Given the description of an element on the screen output the (x, y) to click on. 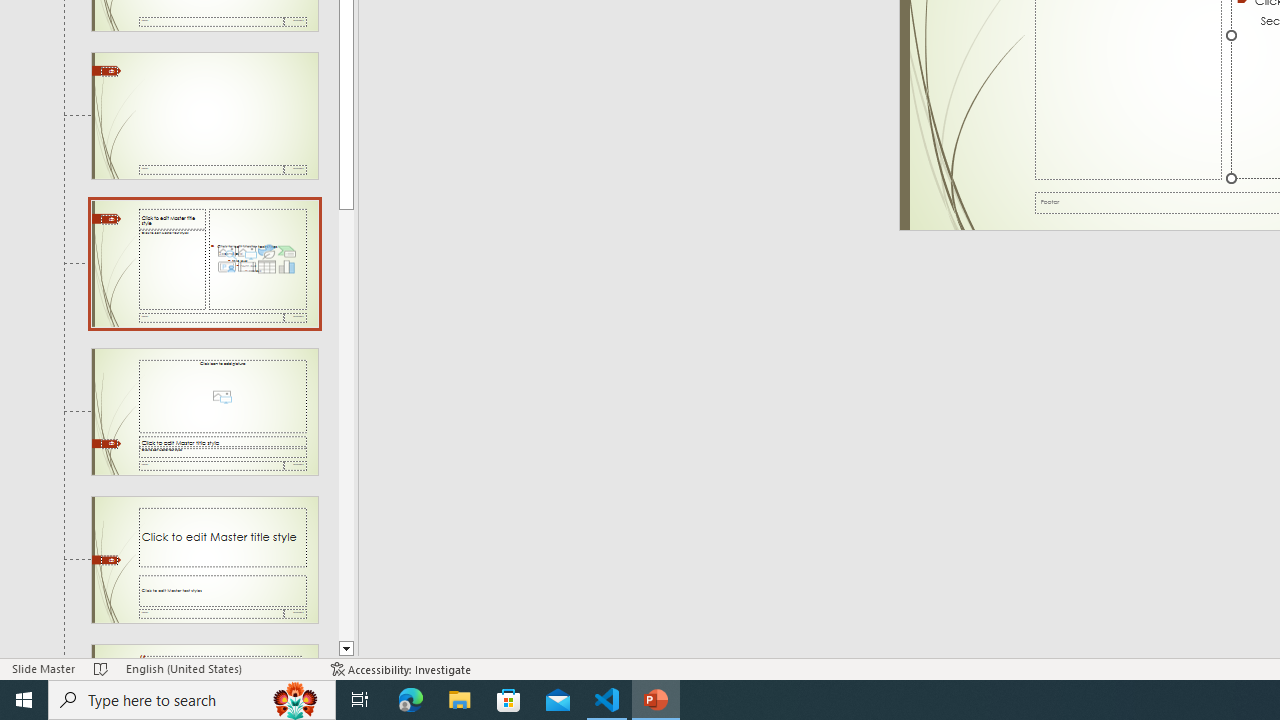
Slide Blank Layout: used by no slides (204, 116)
Slide Picture with Caption Layout: used by no slides (204, 412)
Slide Quote with Caption Layout: used by no slides (204, 651)
Slide Title and Caption Layout: used by no slides (204, 559)
Slide Content with Caption Layout: used by no slides (204, 263)
